Given the description of an element on the screen output the (x, y) to click on. 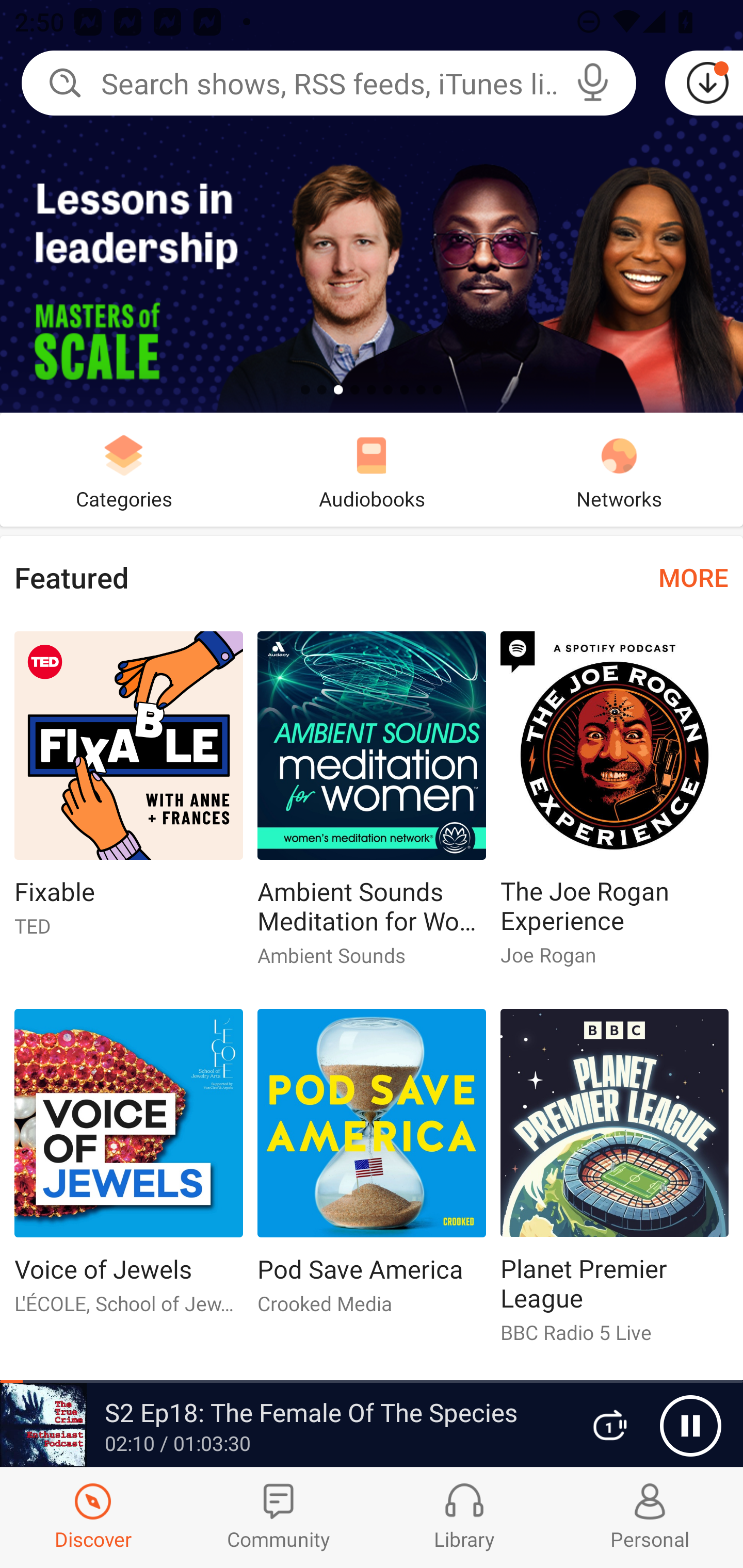
Masters of Scale (371, 206)
Categories (123, 469)
Audiobooks (371, 469)
Networks (619, 469)
MORE (693, 576)
Fixable Fixable TED (128, 792)
Pod Save America Pod Save America Crooked Media (371, 1169)
Pause (690, 1425)
Discover (92, 1517)
Community (278, 1517)
Library (464, 1517)
Profiles and Settings Personal (650, 1517)
